Given the description of an element on the screen output the (x, y) to click on. 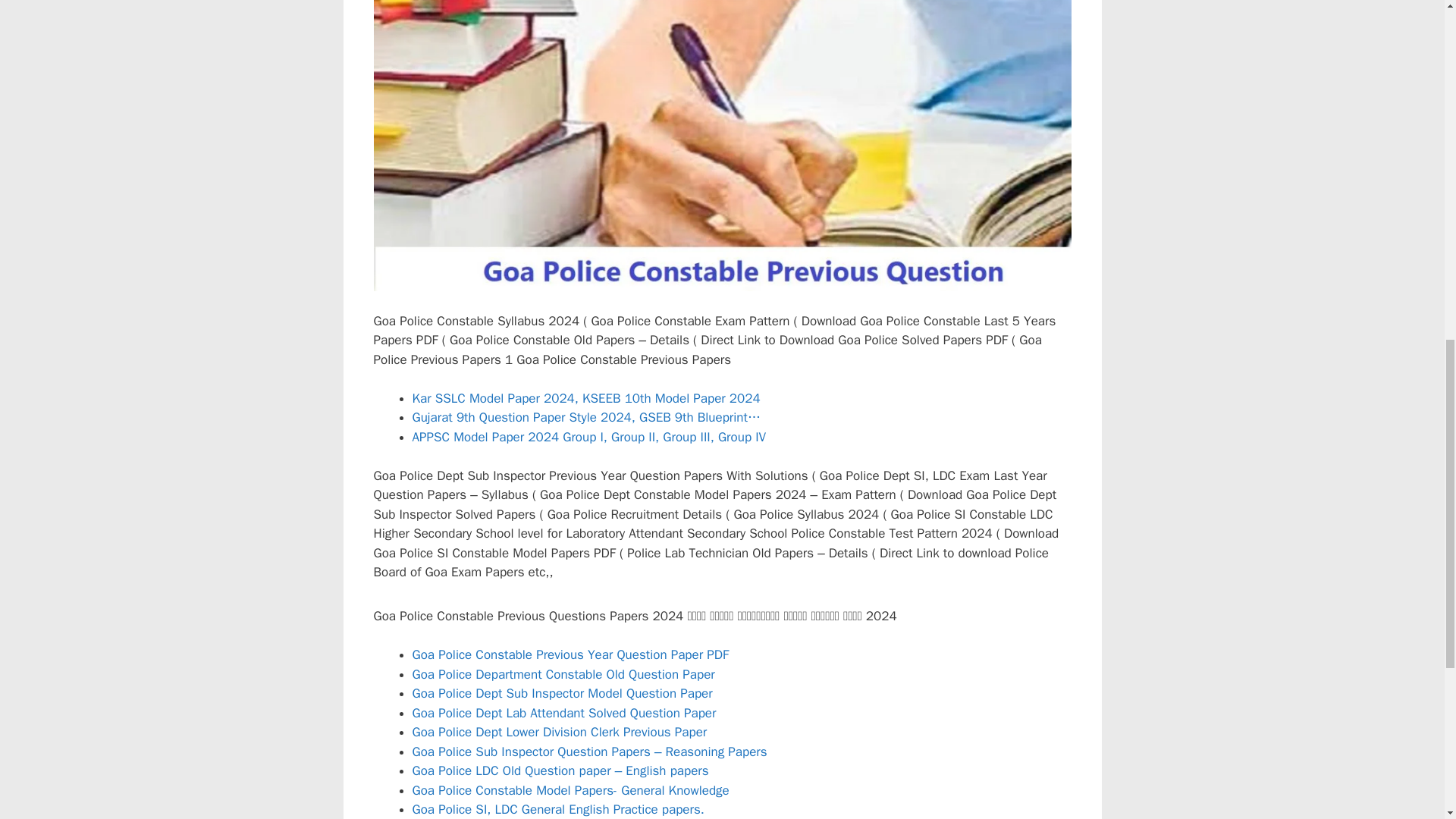
Goa Police Dept Lab Attendant Solved Question Paper (564, 713)
Goa Police Constable Model Papers- General Knowledge (570, 790)
Goa Police SI, LDC General English Practice papers. (558, 809)
Goa Police Dept Sub Inspector Model Question Paper (562, 693)
Goa Police Department Constable Old Question Paper (563, 674)
Goa Police Dept Lower Division Clerk Previous Paper (559, 731)
Kar SSLC Model Paper 2024, KSEEB 10th Model Paper 2024 (586, 398)
Goa Police SI, LDC General English Practice papers. (558, 809)
Goa Police Constable Previous Year Question Paper PDF (570, 654)
Goa Police Constable Model papers- General Knowledge (570, 790)
